Given the description of an element on the screen output the (x, y) to click on. 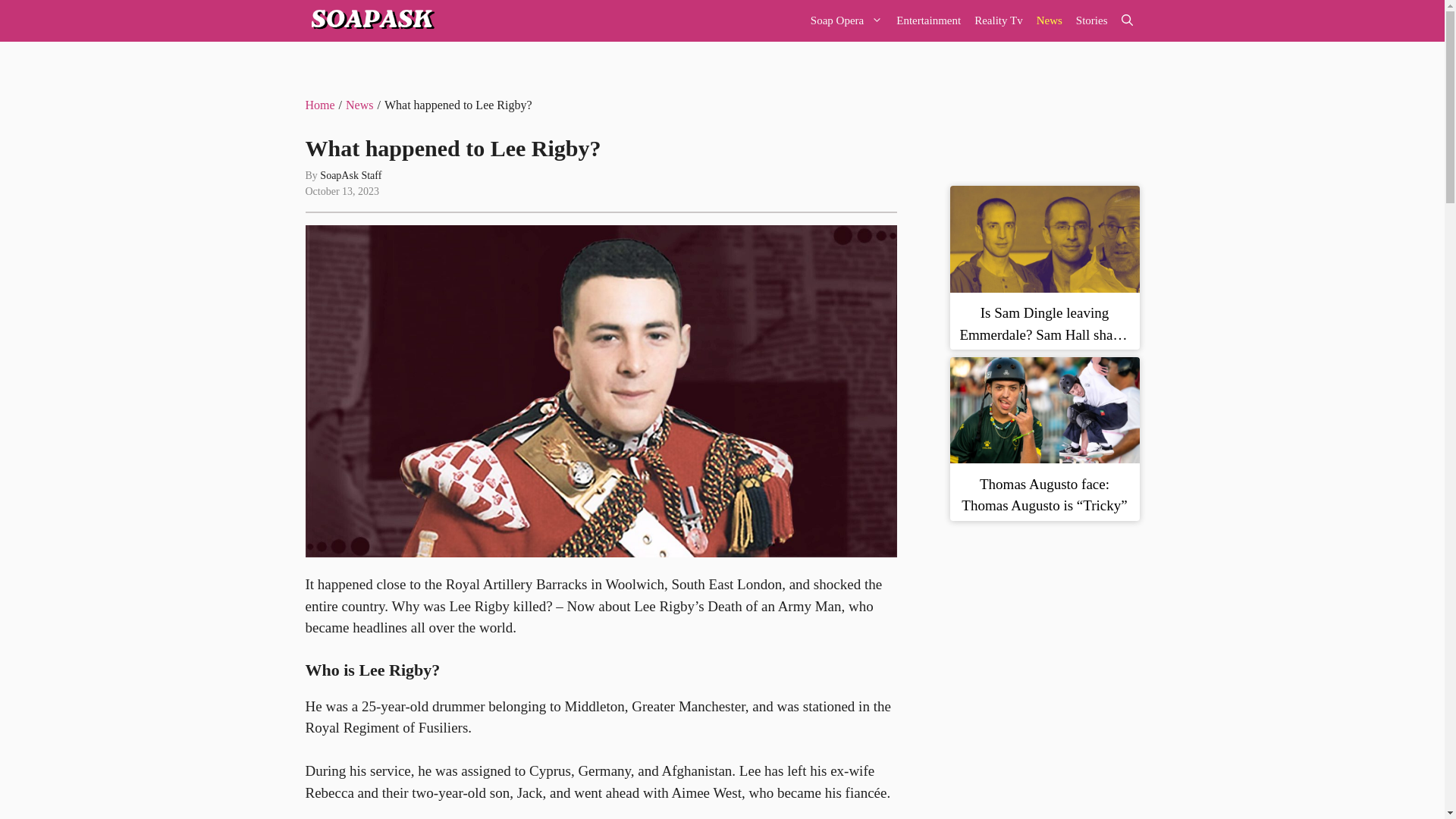
Soap Opera (846, 20)
SoapAsk (370, 20)
View all posts by SoapAsk Staff (350, 174)
